Given the description of an element on the screen output the (x, y) to click on. 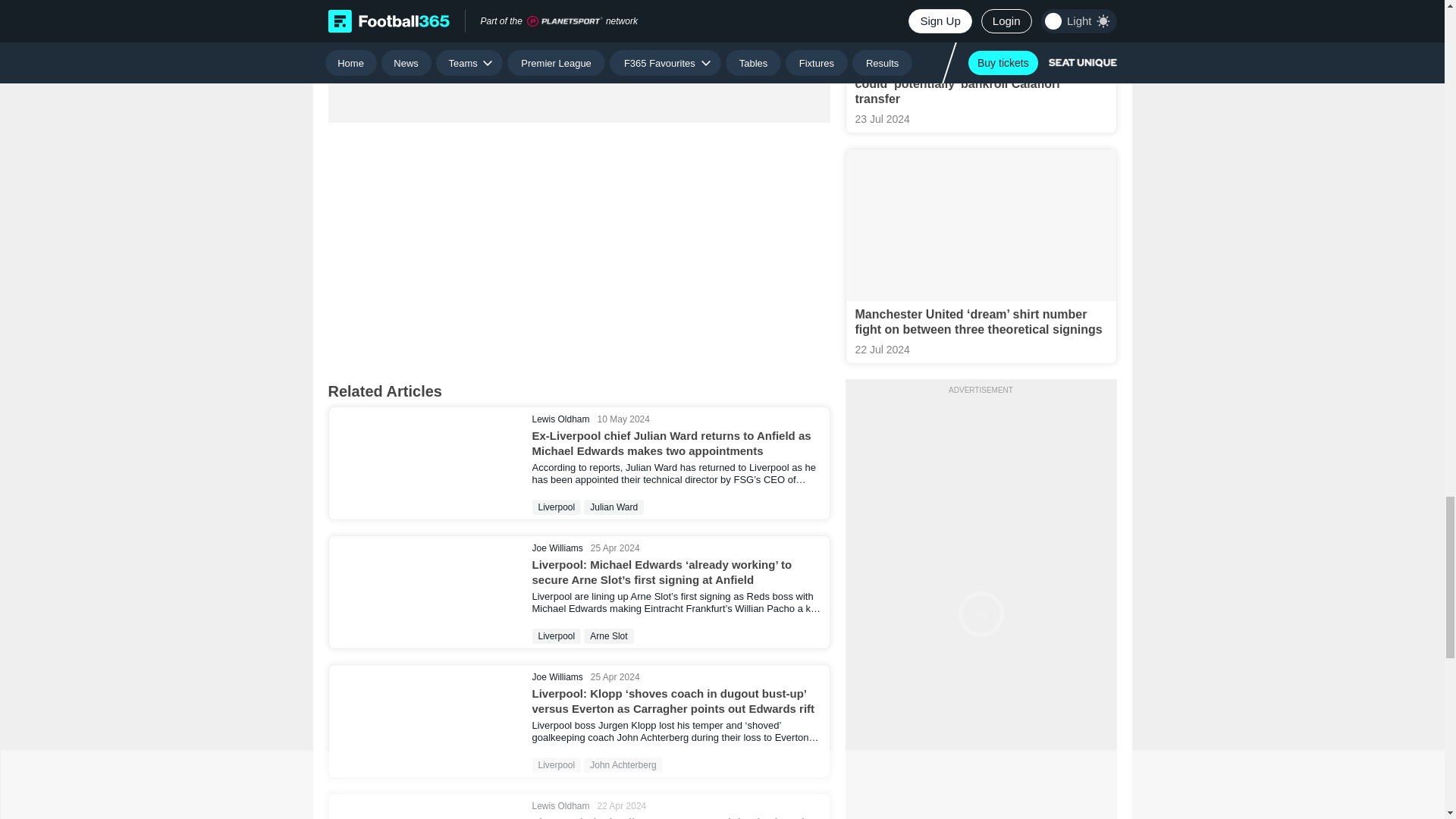
3rd party ad content (578, 43)
Vuukle Comments Widget (578, 243)
